Given the description of an element on the screen output the (x, y) to click on. 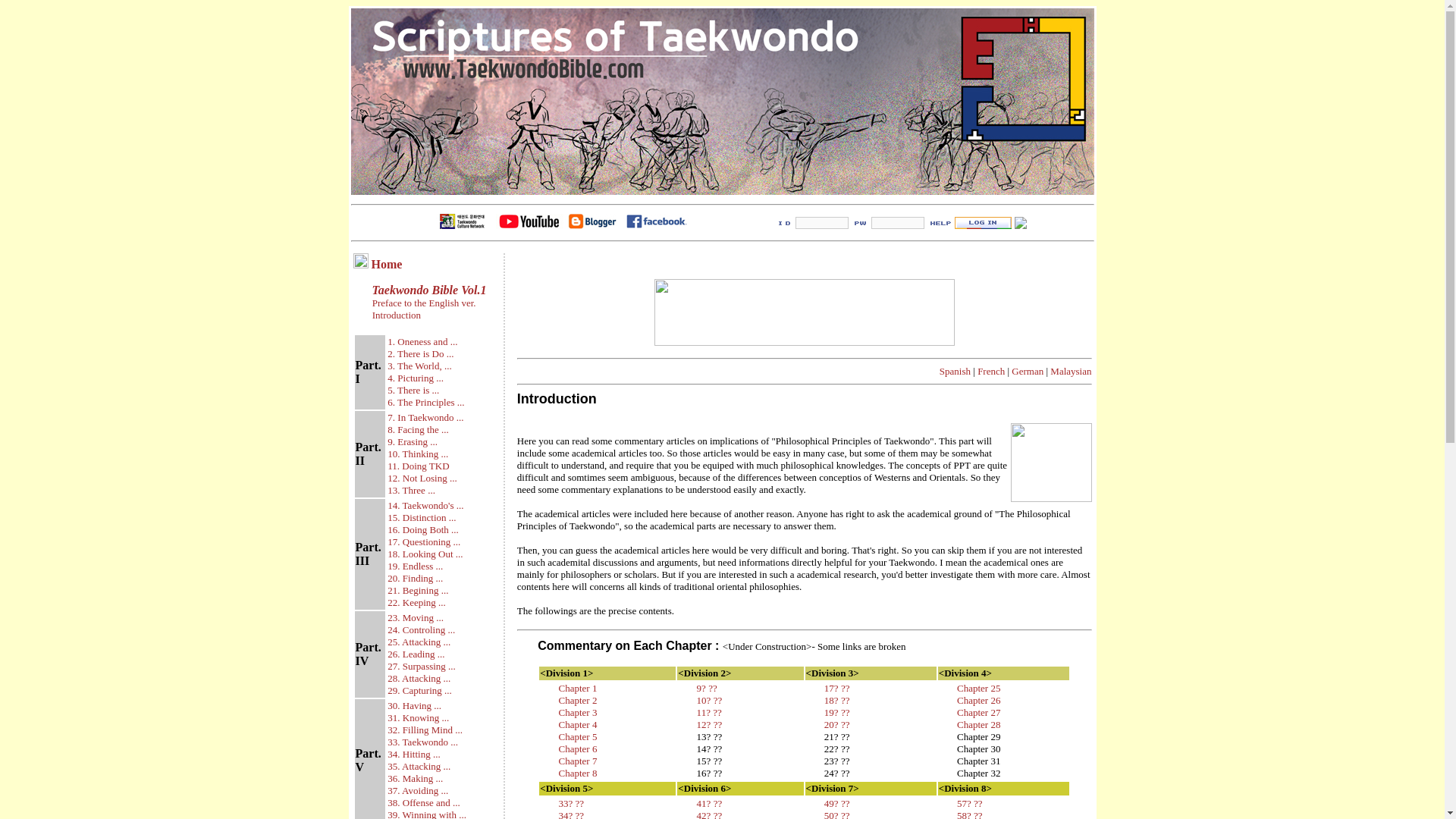
Home (387, 264)
4. Picturing ... (415, 376)
15. Distinction ... (421, 517)
7. In Taekwondo ... (425, 417)
Preface to the English ver. (422, 302)
13. Three ... (411, 490)
8. Facing the ... (417, 429)
17. Questioning ... (423, 541)
Introduction (396, 315)
12. Not Losing ... (422, 478)
9. Erasing ... (412, 441)
22. Keeping ... (416, 602)
5. There is ... (413, 389)
19. Endless ... (414, 565)
28. Attacking ... (418, 677)
